Given the description of an element on the screen output the (x, y) to click on. 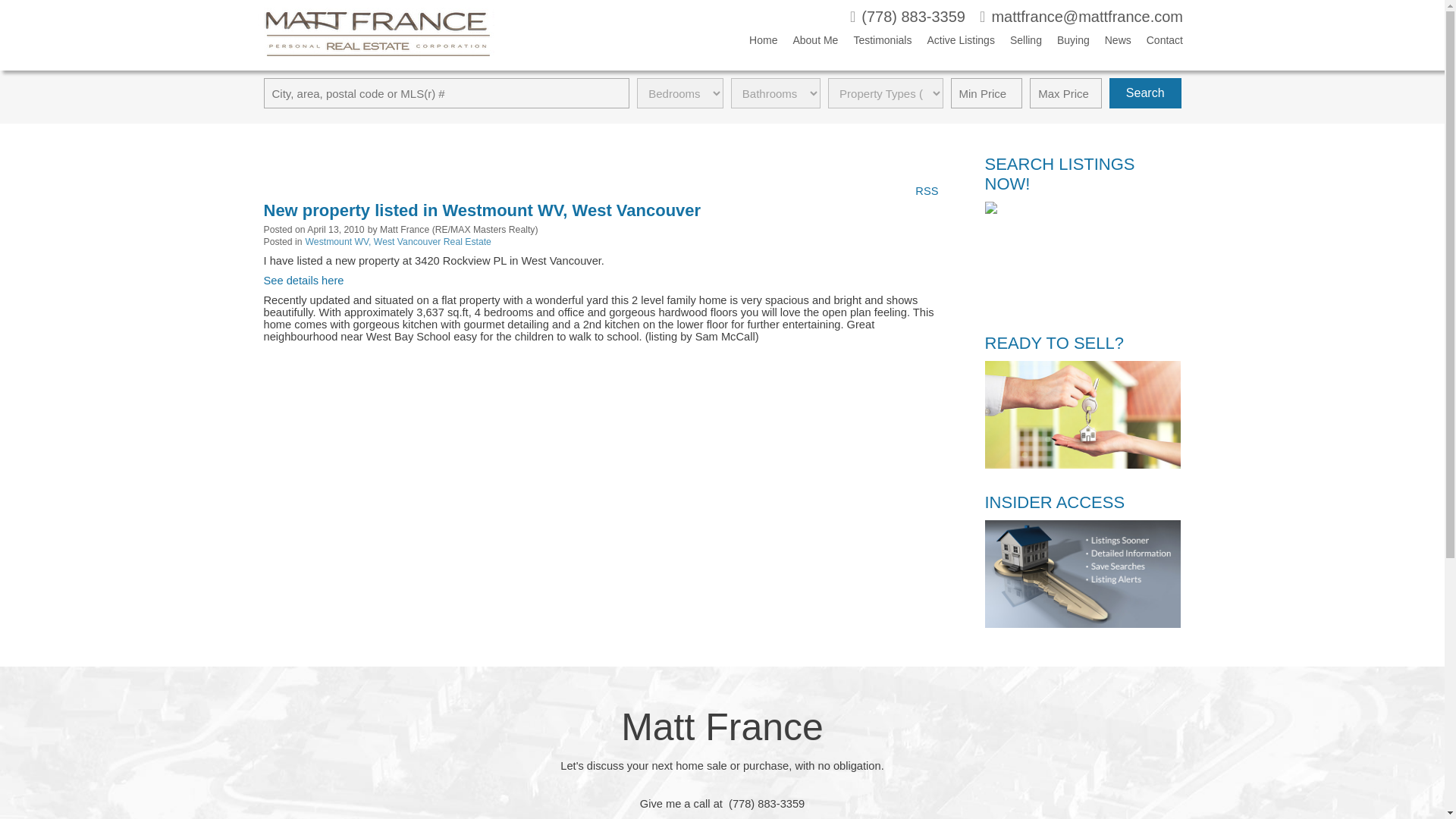
RSS (926, 190)
Active Listings (952, 43)
Buying (1065, 43)
Testimonials (874, 43)
Home (755, 43)
Westmount WV, West Vancouver Real Estate (398, 241)
News (1110, 43)
About Me (807, 43)
Contact (1156, 43)
Search (1144, 92)
See details here (303, 280)
Selling (1018, 43)
